Given the description of an element on the screen output the (x, y) to click on. 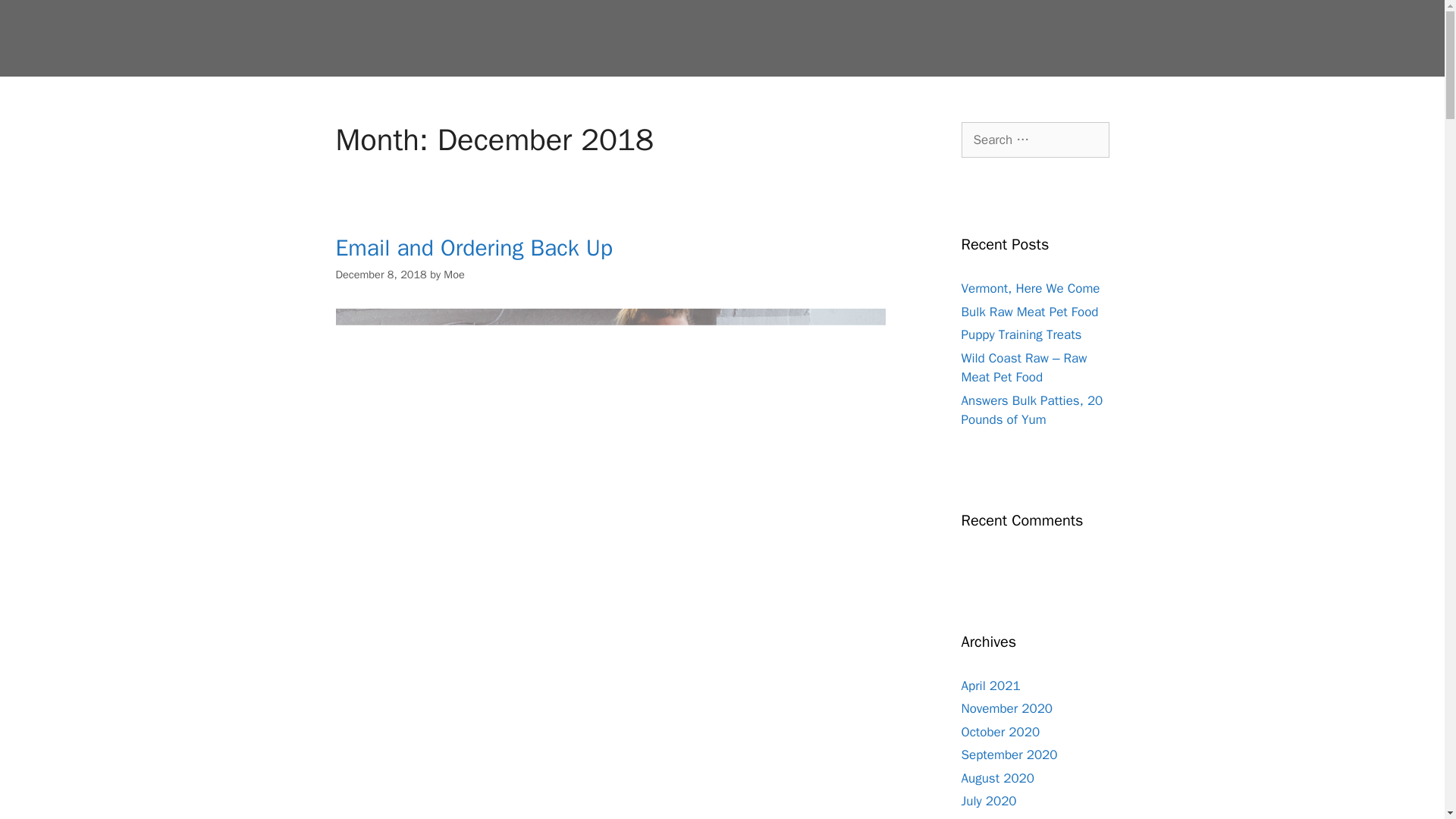
6:09 pm (380, 274)
Search for: (1034, 139)
View all posts by Moe (454, 274)
